Given the description of an element on the screen output the (x, y) to click on. 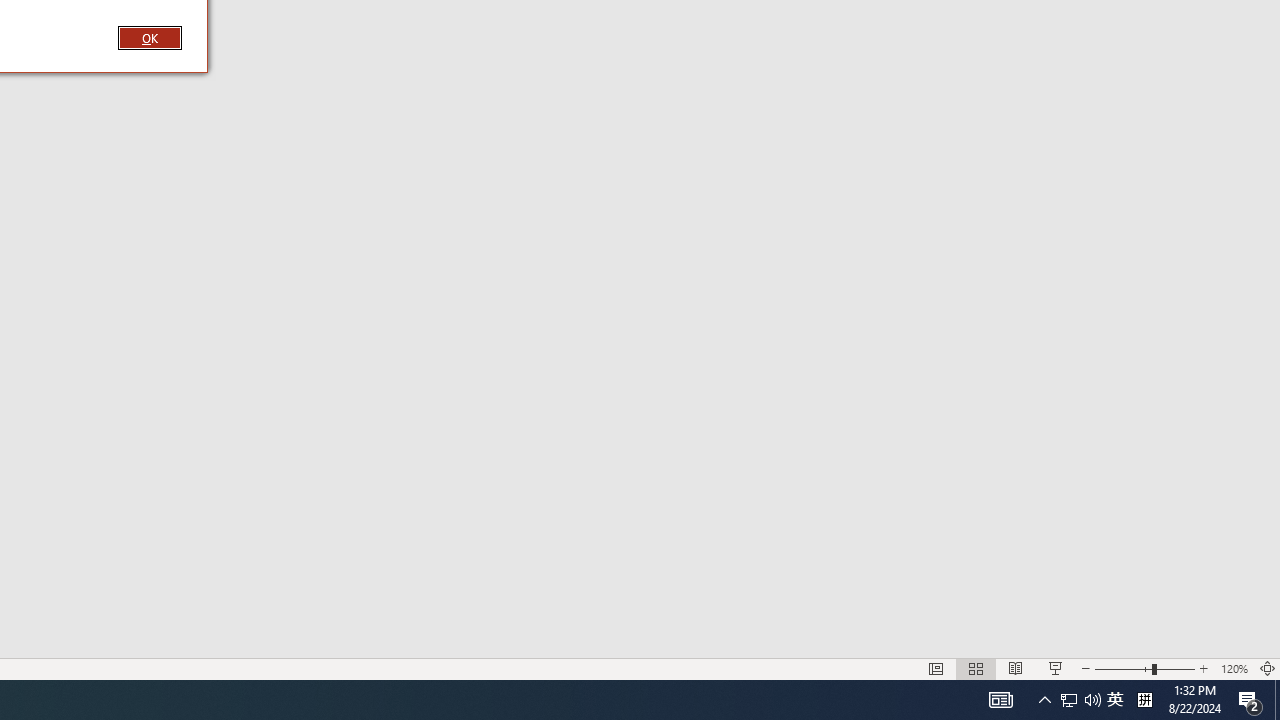
Action Center, 2 new notifications (1250, 699)
OK (149, 37)
Zoom 120% (1234, 668)
